Given the description of an element on the screen output the (x, y) to click on. 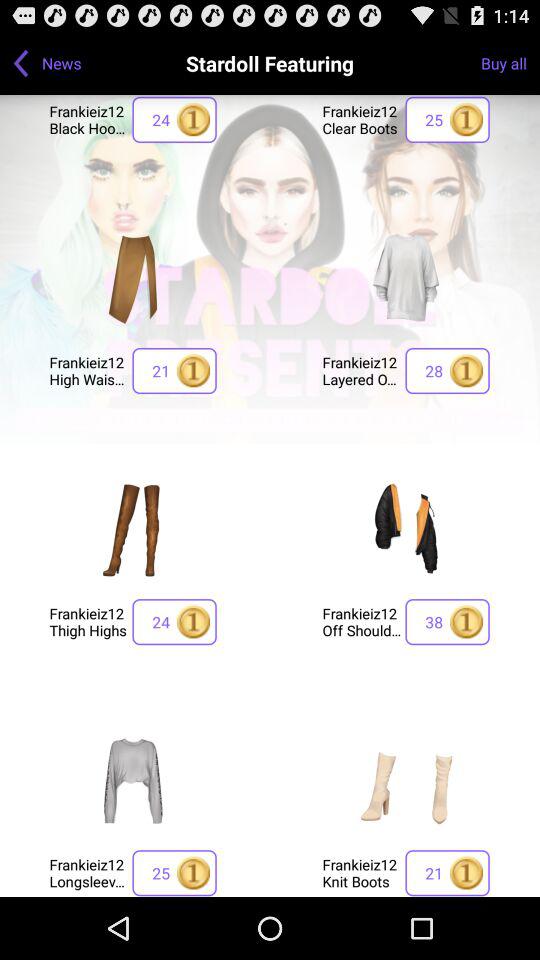
select clothing item (406, 277)
